Given the description of an element on the screen output the (x, y) to click on. 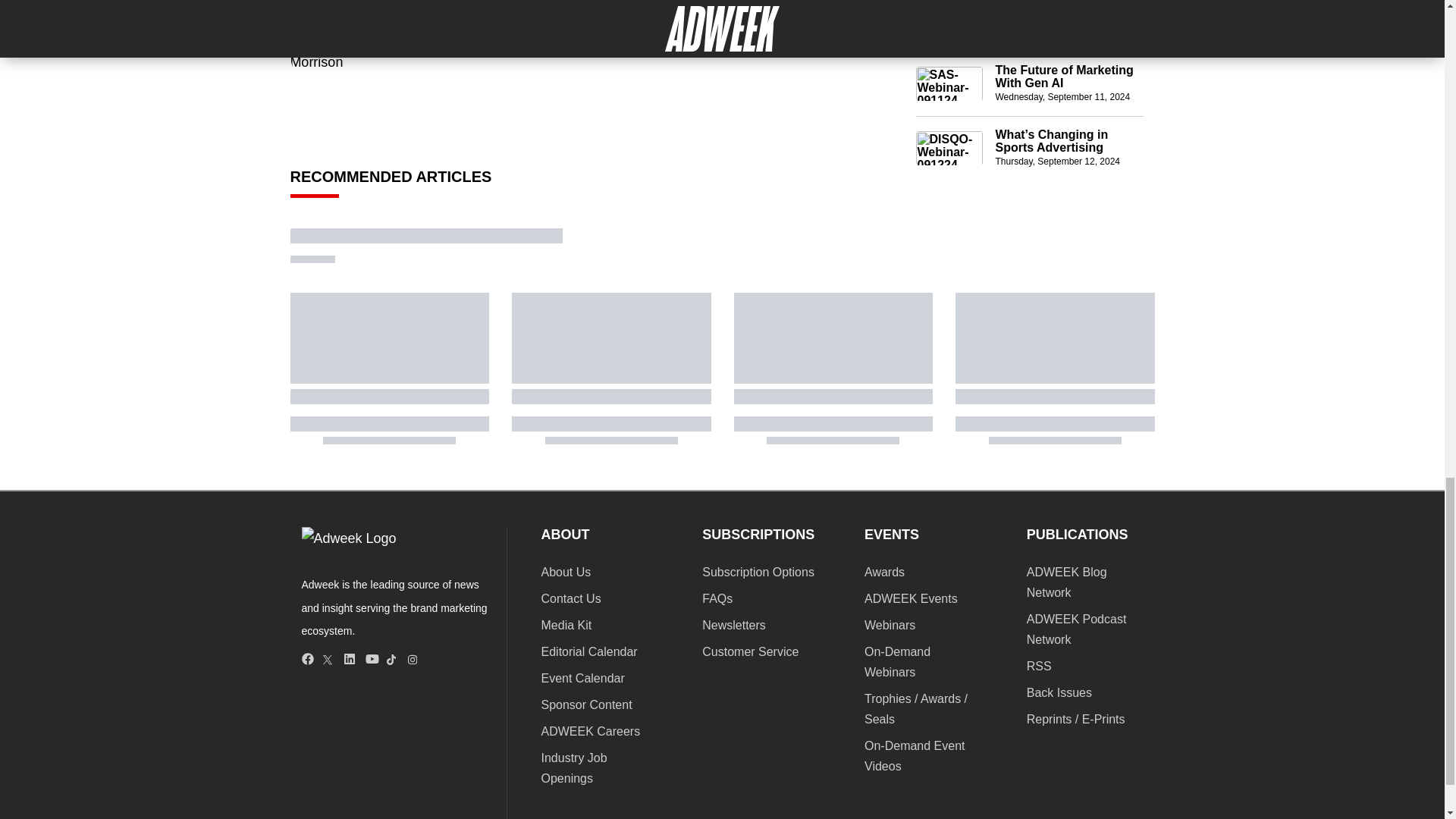
ResonateWebinar091024Header (948, 19)
DISQO-Webinar-091224 (948, 148)
KIMBERLEE MORRISON (512, 14)
SAS-Webinar-091124-LinkedIn-v2 (948, 83)
